Given the description of an element on the screen output the (x, y) to click on. 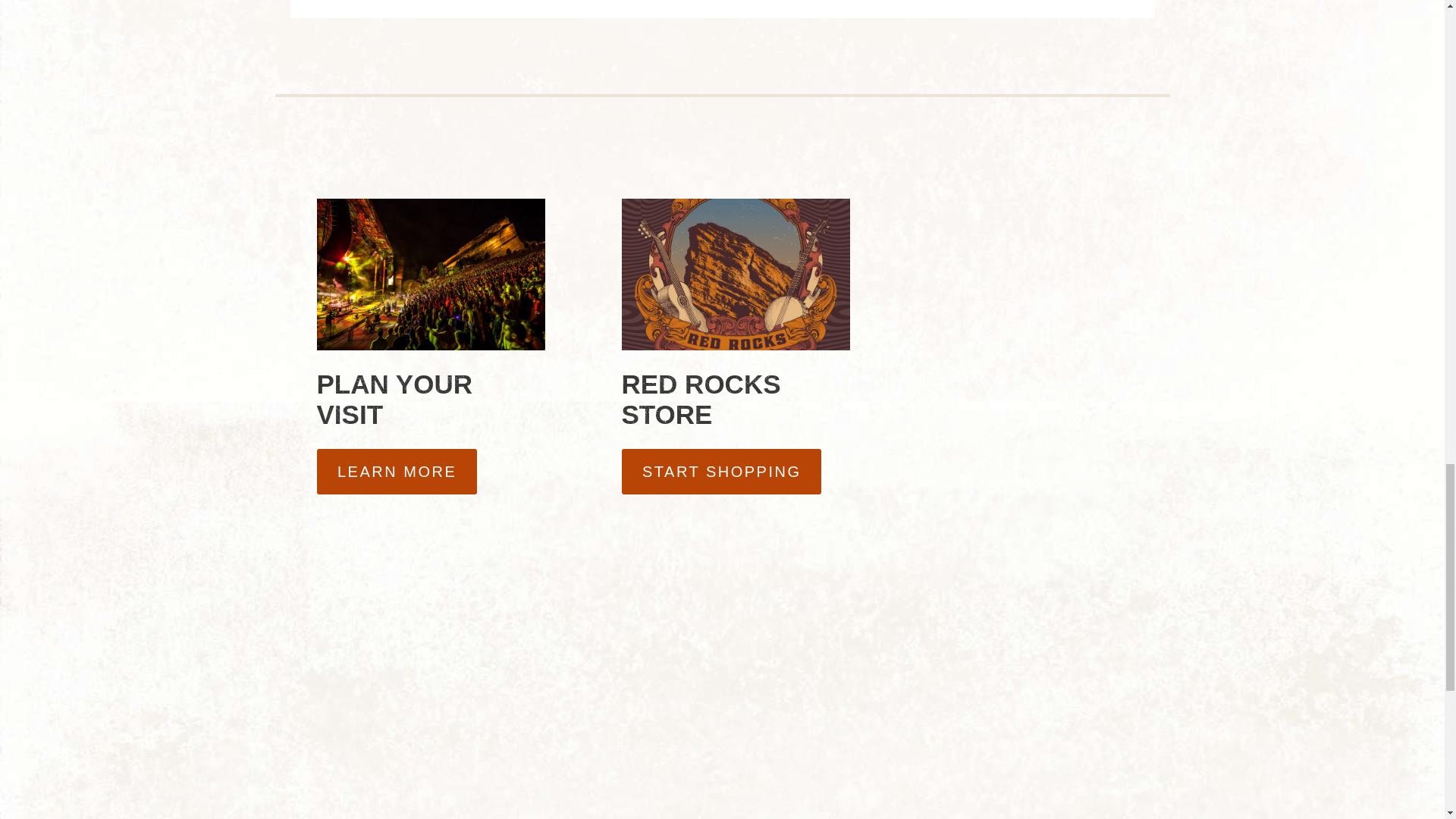
3rd party ad content (1012, 271)
